Given the description of an element on the screen output the (x, y) to click on. 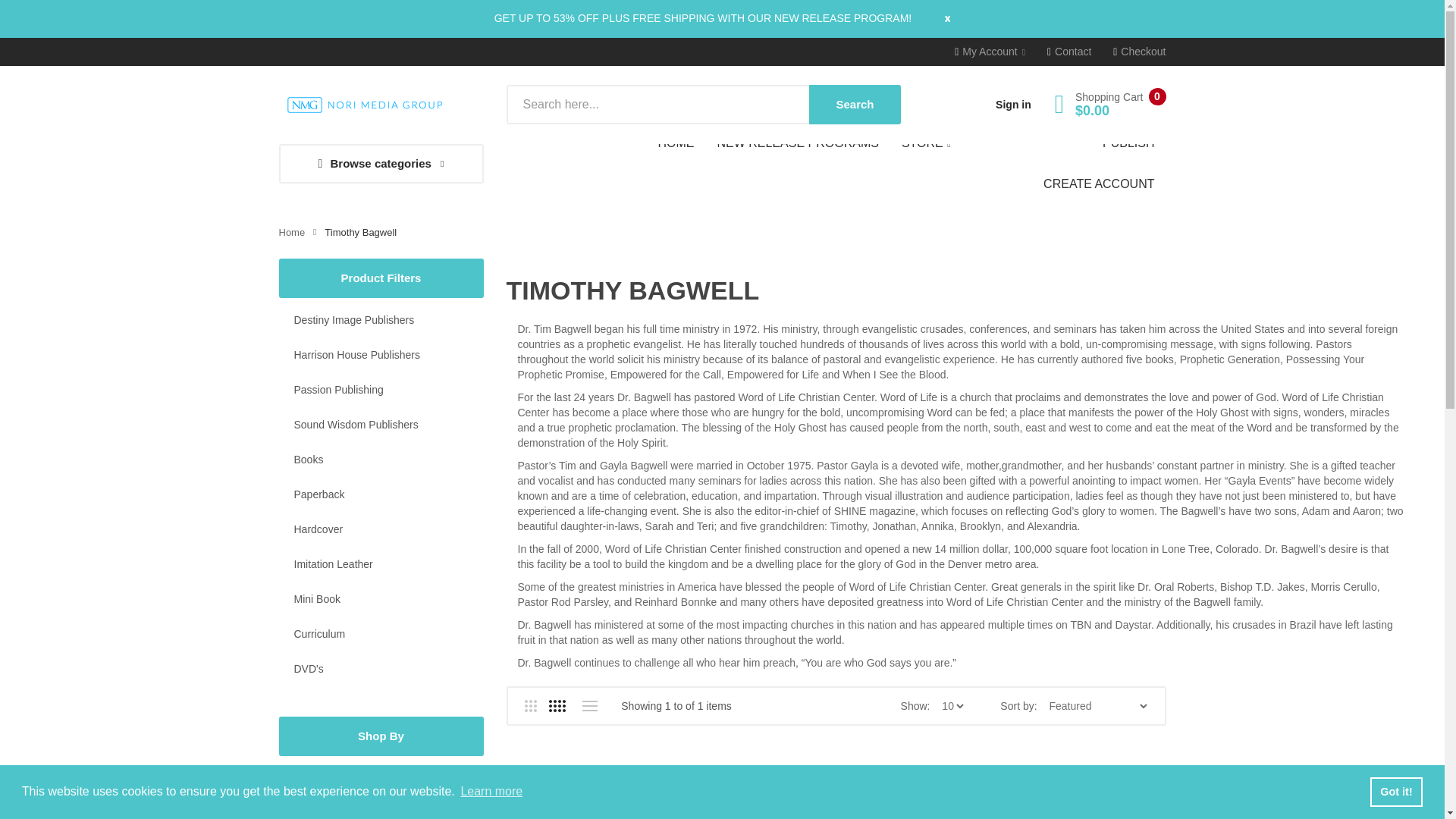
NEW RELEASE PROGRAMS (796, 142)
x (932, 17)
Show products matching tag allbooks (381, 777)
Search (854, 104)
Home (292, 232)
STORE (925, 143)
Back to the frontpage (292, 232)
Checkout (1139, 51)
Got it! (1396, 791)
Learn more (491, 791)
Contact (1068, 51)
PUBLISH (1128, 142)
My Account (990, 51)
HOME (682, 142)
CREATE ACCOUNT (1099, 183)
